Given the description of an element on the screen output the (x, y) to click on. 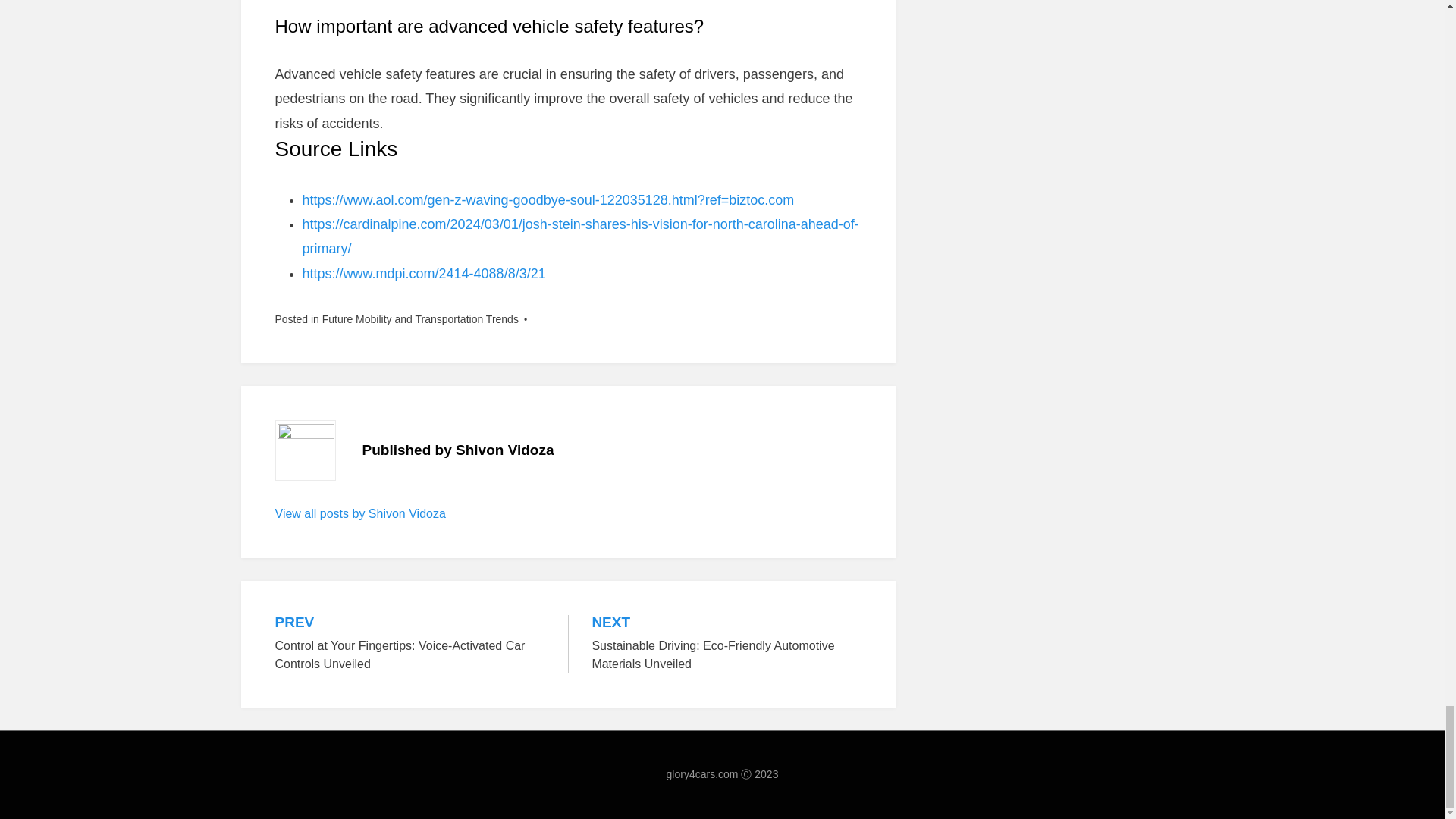
TemplatePocket (365, 796)
WordPress (481, 796)
View all posts by Shivon Vidoza (360, 513)
WordPress (481, 796)
Future Mobility and Transportation Trends (419, 318)
TemplatePocket (365, 796)
